Given the description of an element on the screen output the (x, y) to click on. 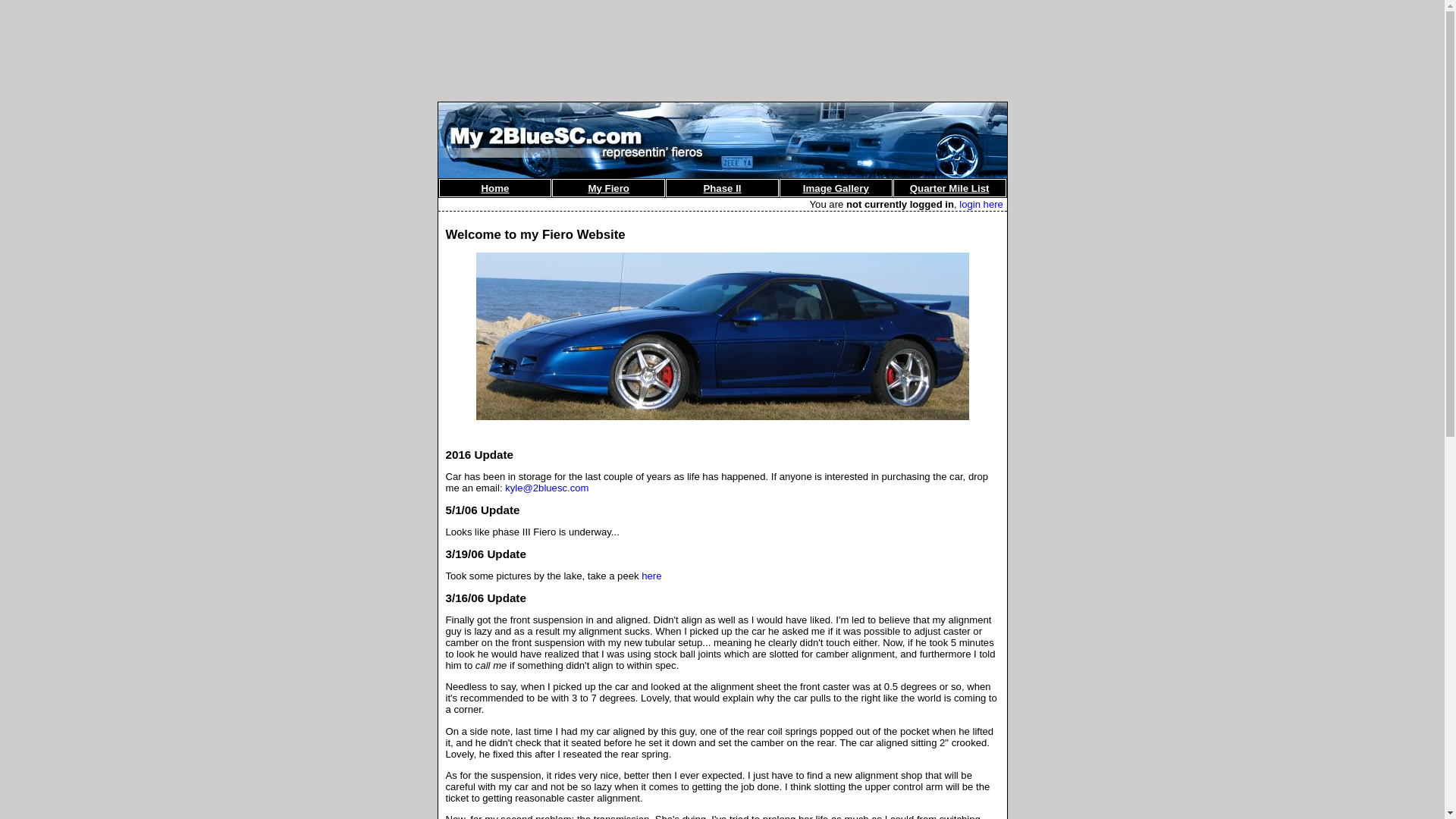
My Fiero Element type: text (608, 187)
Phase II Element type: text (721, 187)
Home Element type: text (494, 187)
Quarter Mile List Element type: text (949, 187)
Advertisement Element type: hover (721, 40)
Image Gallery Element type: text (836, 187)
login here Element type: text (981, 204)
here Element type: text (651, 575)
kyle@2bluesc.com Element type: text (546, 487)
